Given the description of an element on the screen output the (x, y) to click on. 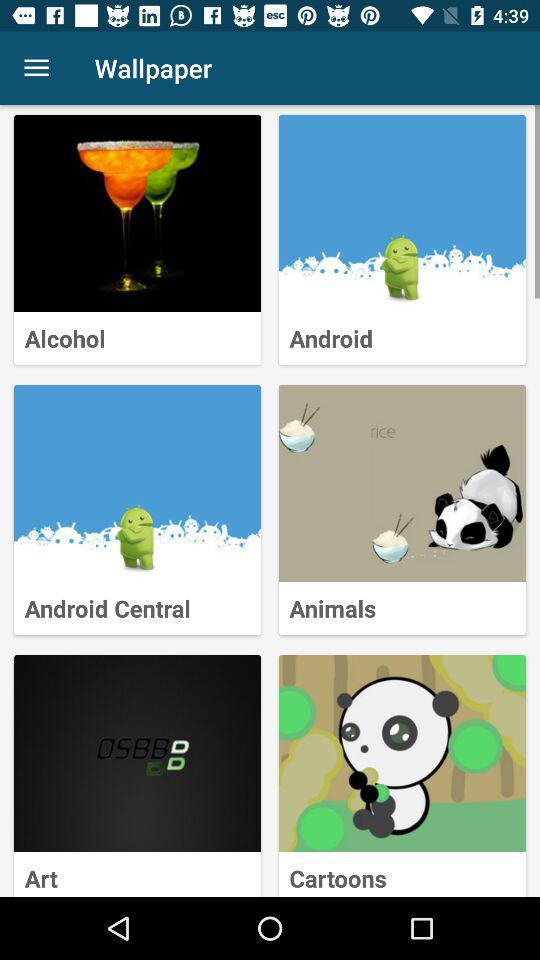
press to select image as wallpaper (137, 483)
